Given the description of an element on the screen output the (x, y) to click on. 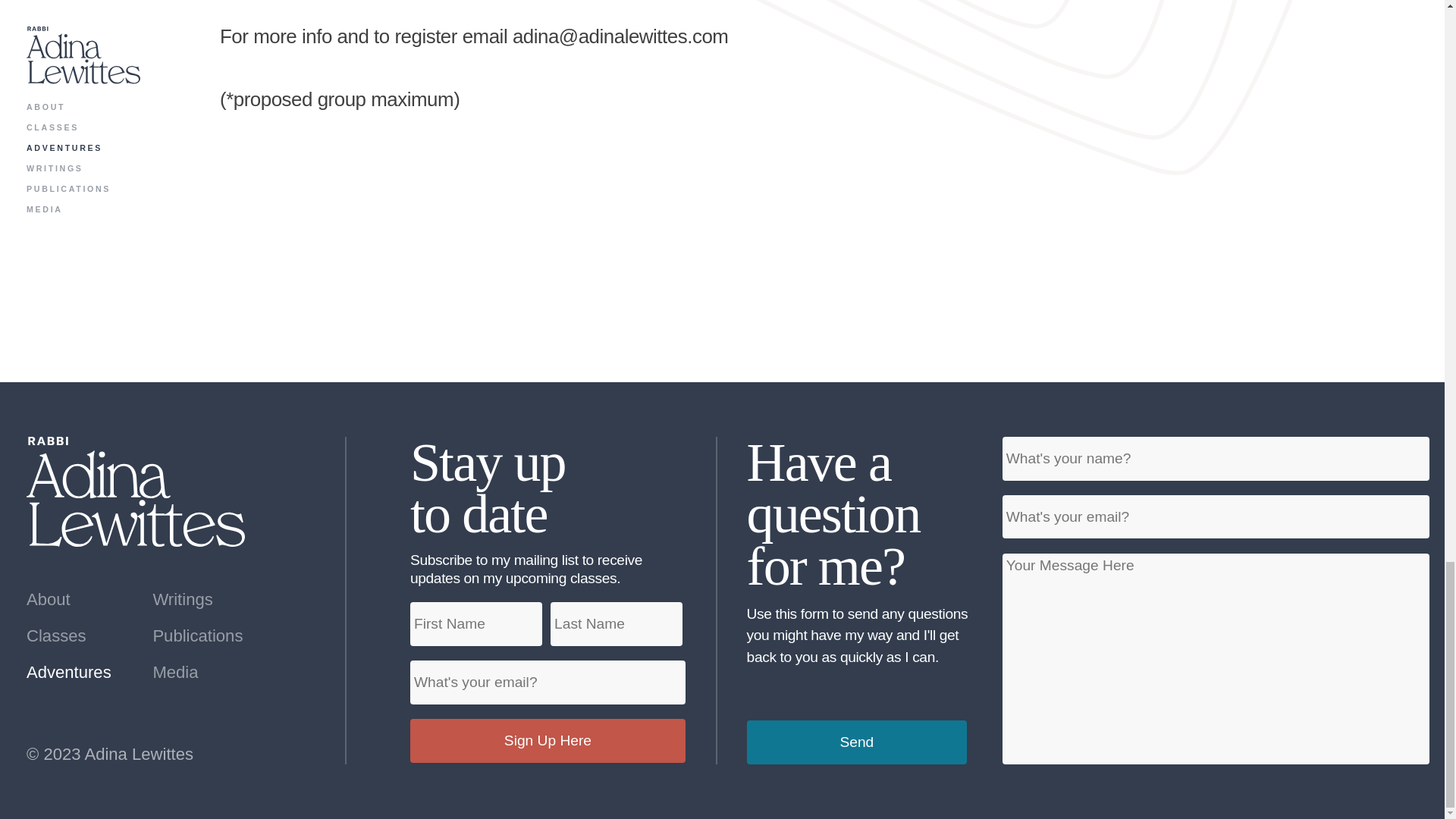
About (82, 599)
Adventures (82, 672)
Send (857, 742)
Sign Up Here (547, 740)
Writings (209, 599)
Classes (82, 636)
Publications (209, 636)
Media (209, 672)
